Given the description of an element on the screen output the (x, y) to click on. 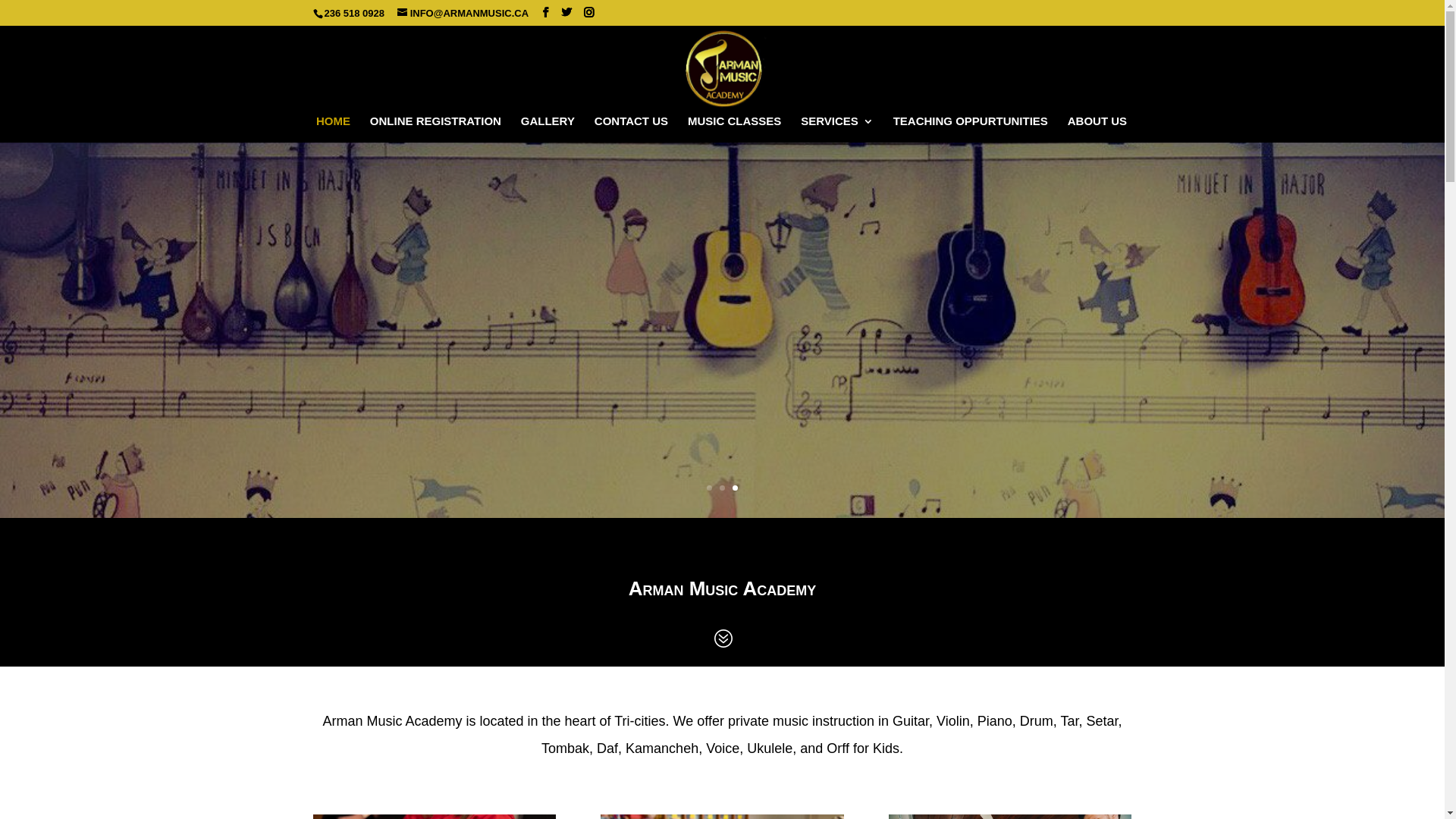
1 Element type: text (709, 487)
CONTACT US Element type: text (631, 128)
3 Element type: text (734, 487)
? Element type: text (722, 639)
TEACHING OPPURTUNITIES Element type: text (970, 128)
GALLERY Element type: text (547, 128)
MUSIC CLASSES Element type: text (734, 128)
SERVICES Element type: text (836, 128)
HOME Element type: text (333, 128)
ONLINE REGISTRATION Element type: text (435, 128)
2 Element type: text (721, 487)
INFO@ARMANMUSIC.CA Element type: text (462, 12)
ABOUT US Element type: text (1096, 128)
